Given the description of an element on the screen output the (x, y) to click on. 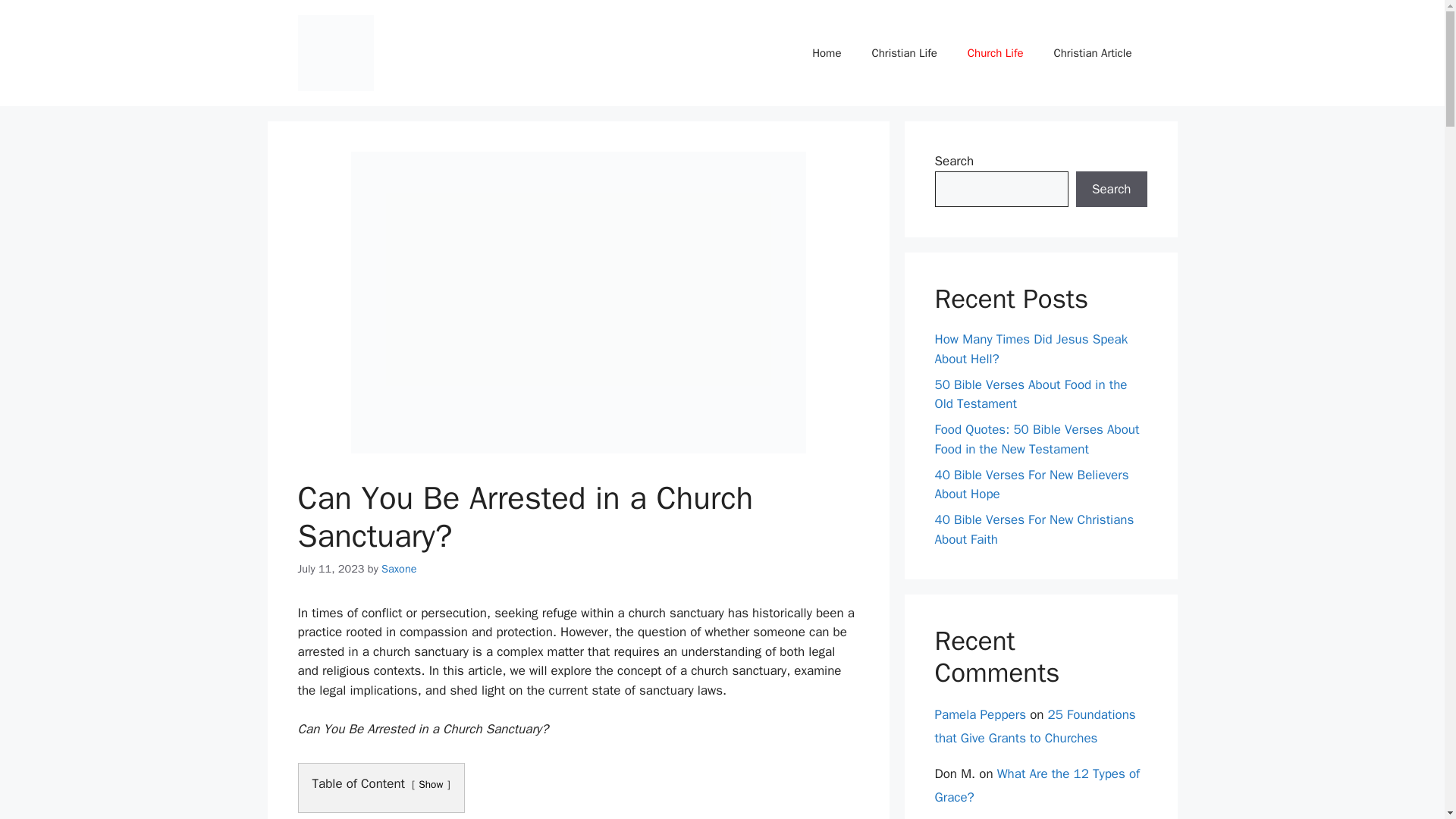
View all posts by Saxone (398, 568)
Search (1111, 189)
Show (430, 784)
Saxone (398, 568)
Home (826, 53)
Christian Life (904, 53)
Church Life (995, 53)
Christian Article (1092, 53)
